Given the description of an element on the screen output the (x, y) to click on. 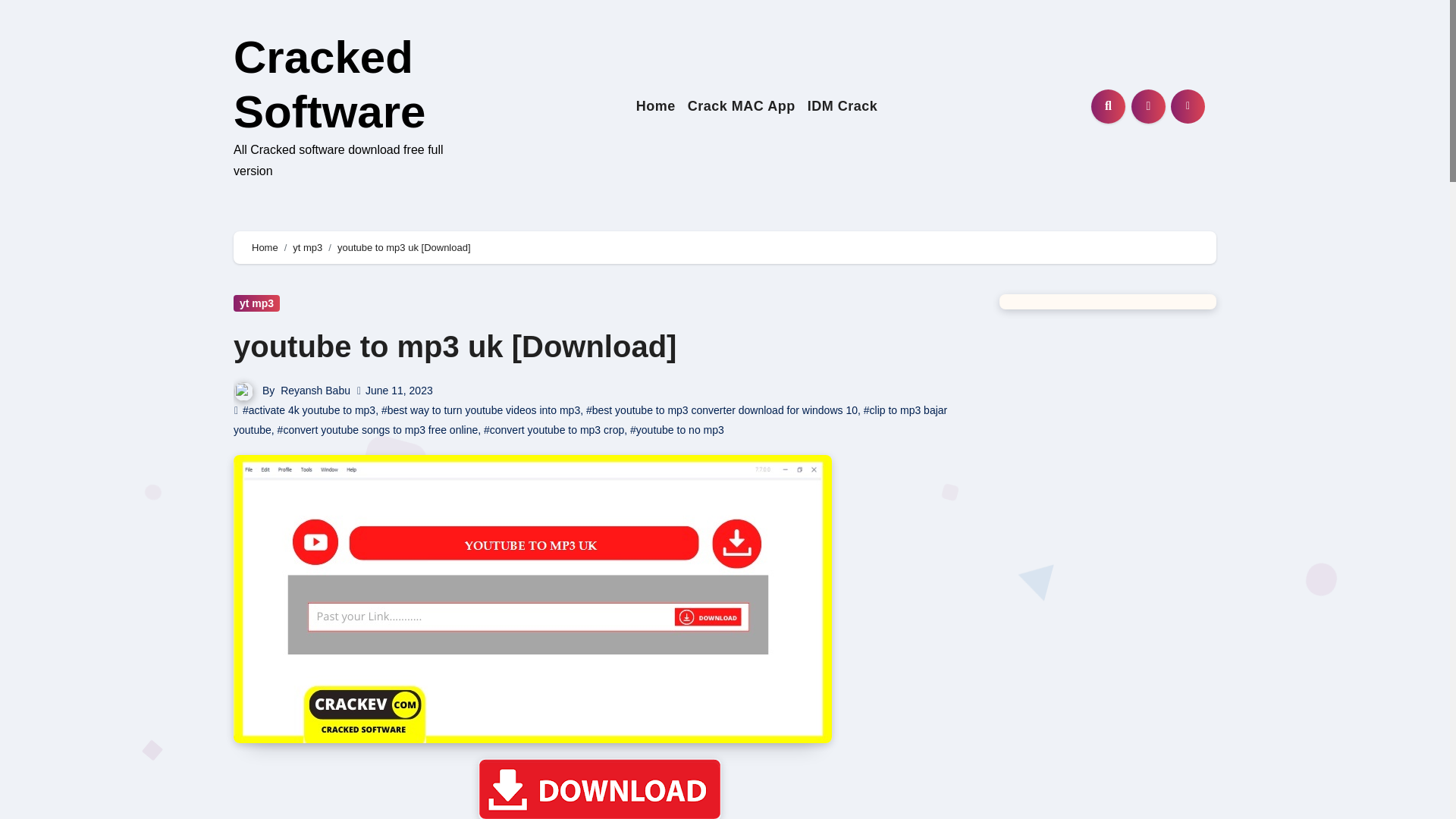
Home (264, 247)
Home (655, 106)
June 11, 2023 (398, 390)
IDM Crack (842, 106)
Home (655, 106)
IDM Crack (842, 106)
Crack MAC App (741, 106)
yt mp3 (306, 247)
Crack MAC App (741, 106)
Reyansh Babu (315, 390)
yt mp3 (255, 303)
Cracked Software (328, 84)
